Given the description of an element on the screen output the (x, y) to click on. 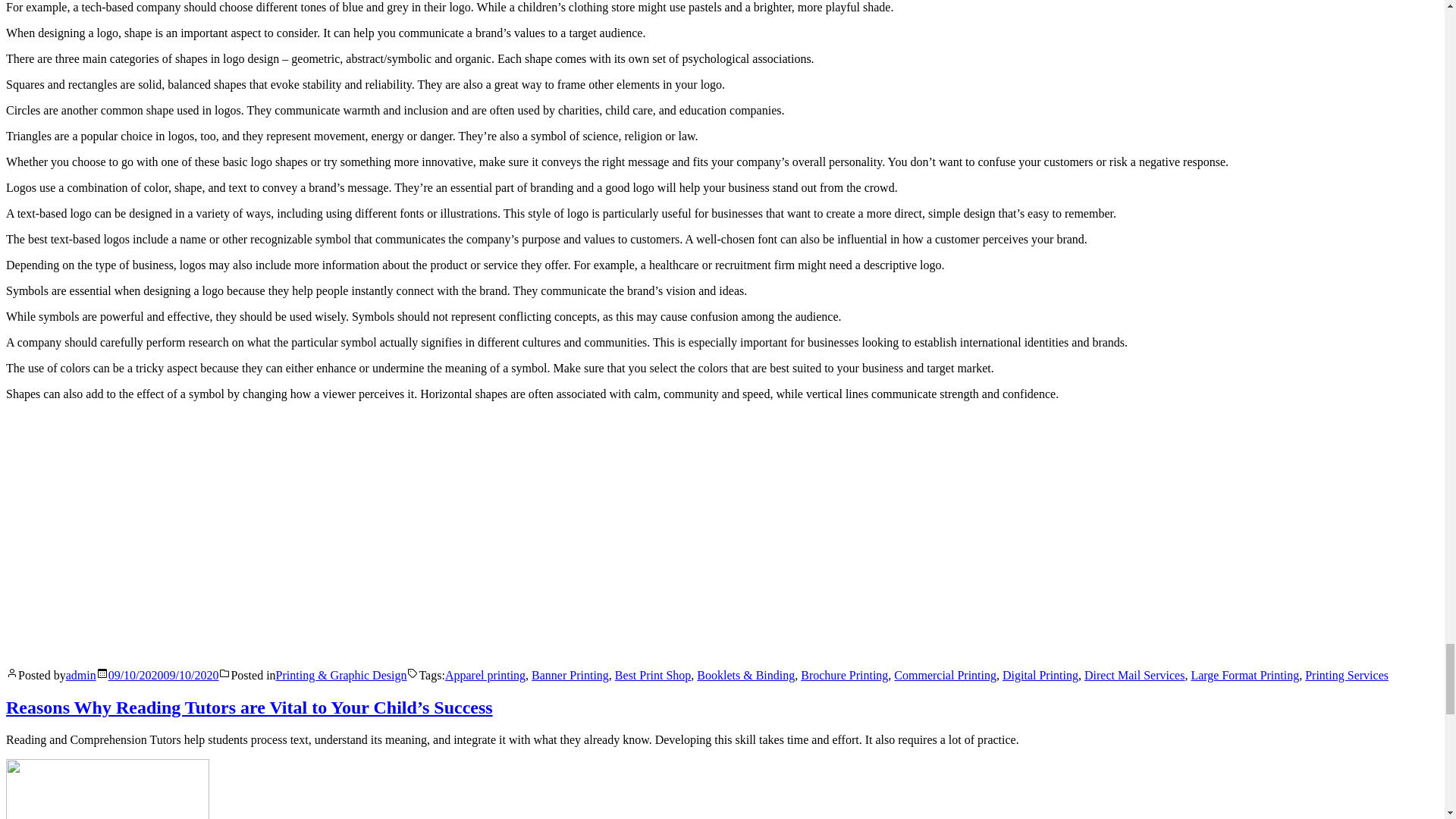
YouTube video player (217, 532)
